Given the description of an element on the screen output the (x, y) to click on. 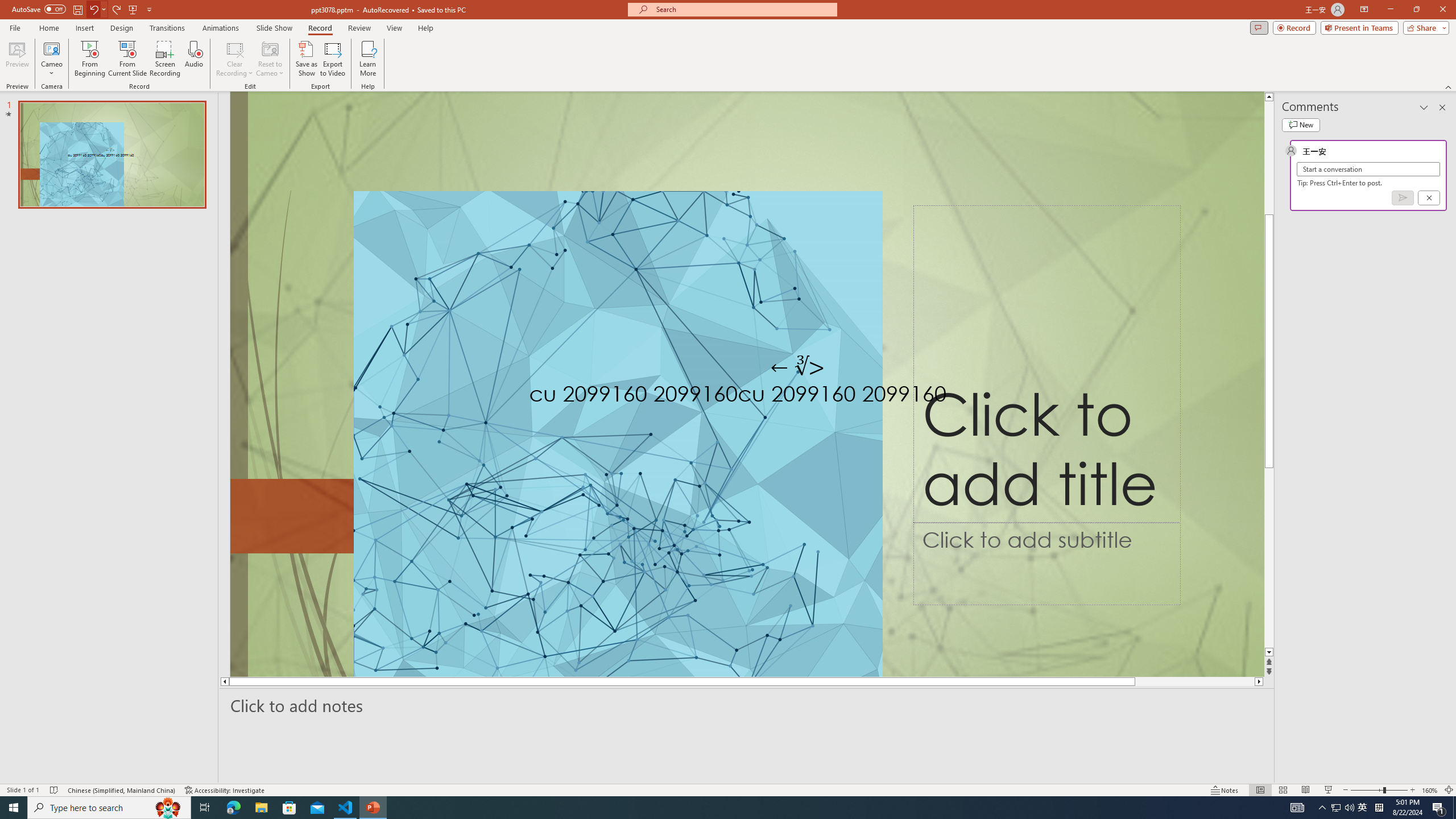
Cameo (51, 48)
An abstract genetic concept (746, 383)
TextBox 61 (807, 396)
Page down (1268, 535)
